Given the description of an element on the screen output the (x, y) to click on. 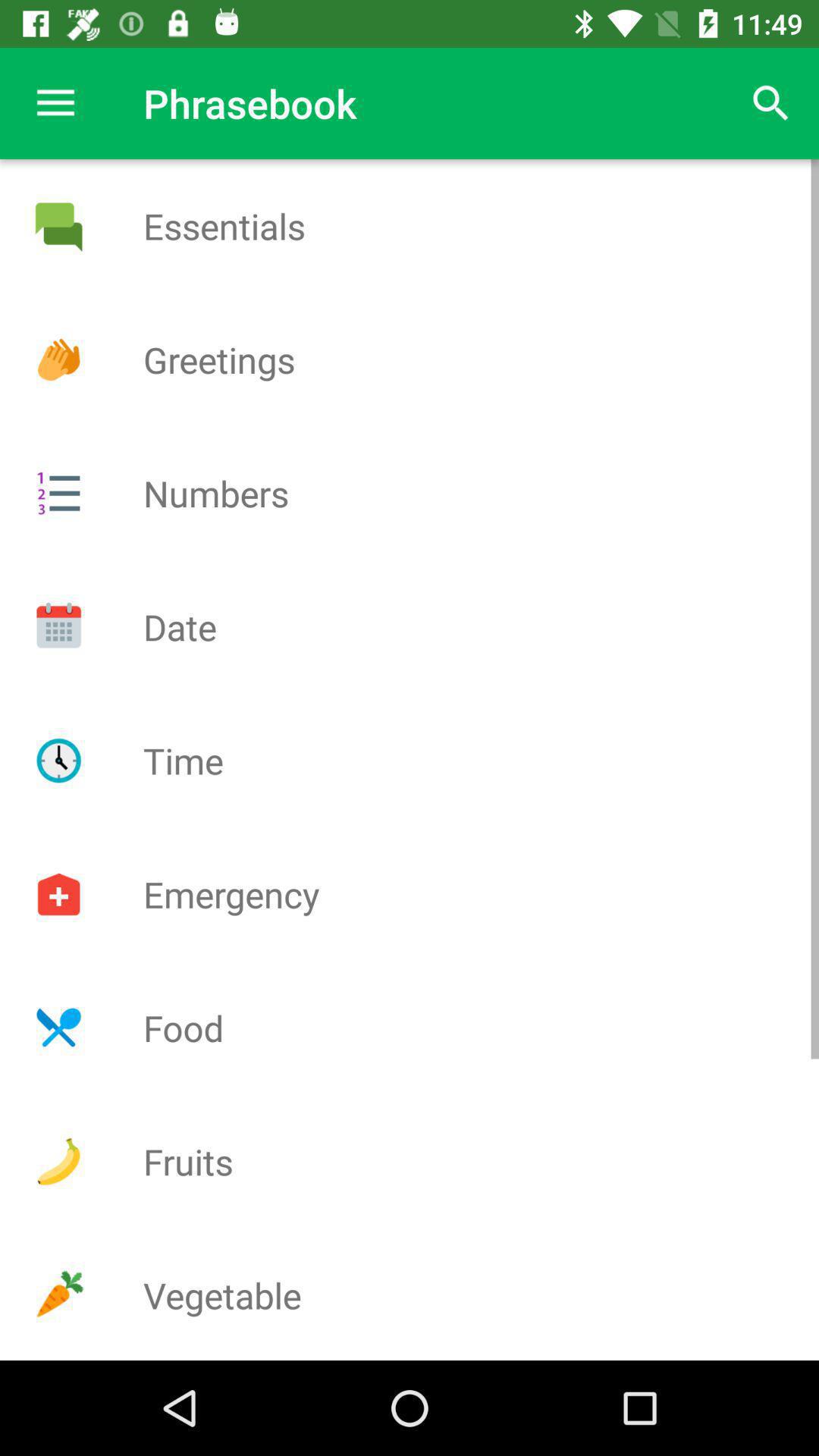
show numbers (58, 493)
